Given the description of an element on the screen output the (x, y) to click on. 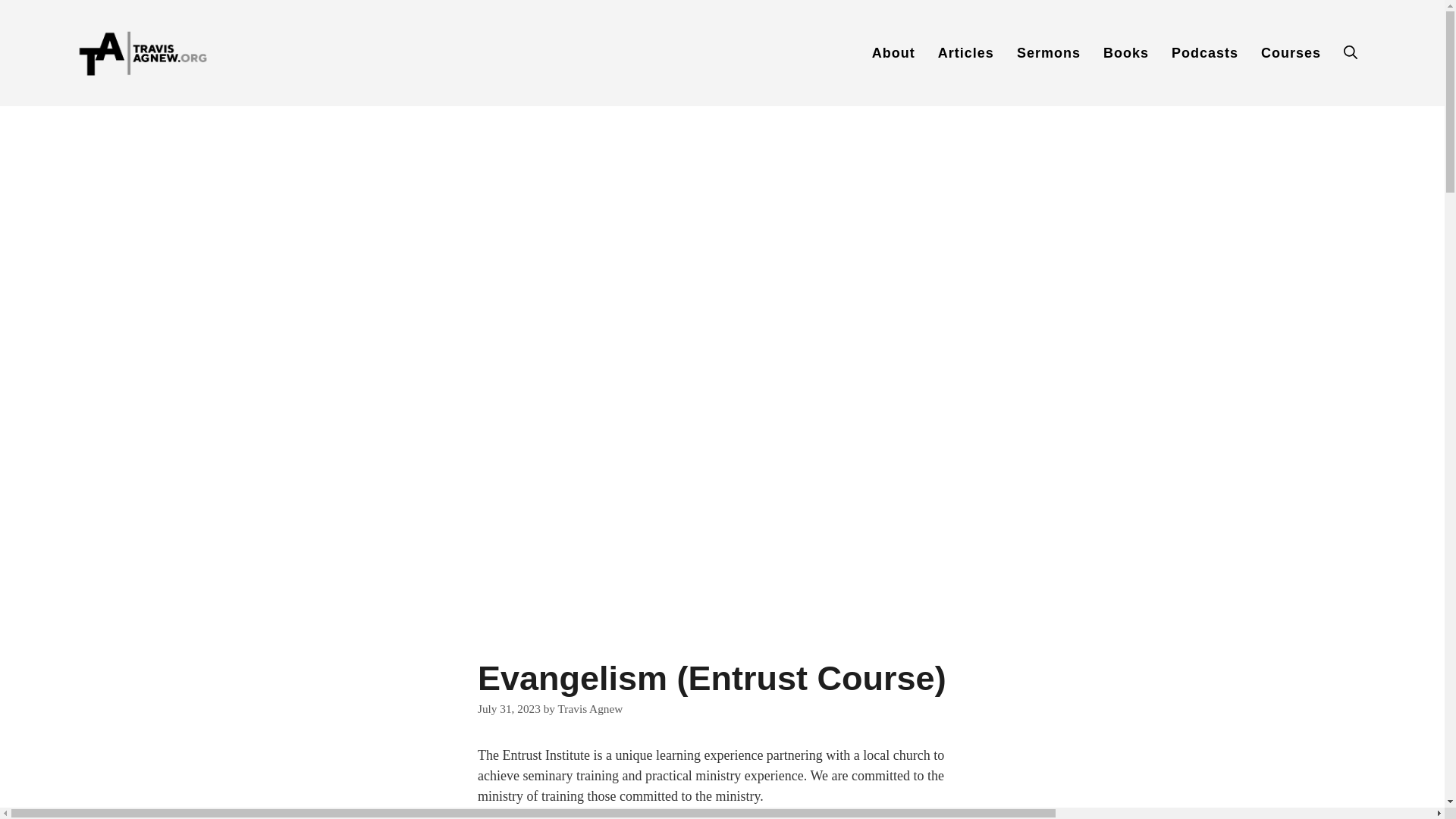
Sermons (1049, 52)
View all posts by Travis Agnew (590, 707)
Travis Agnew (590, 707)
Books (1126, 52)
Courses (1290, 52)
Podcasts (1204, 52)
Articles (966, 52)
